Given the description of an element on the screen output the (x, y) to click on. 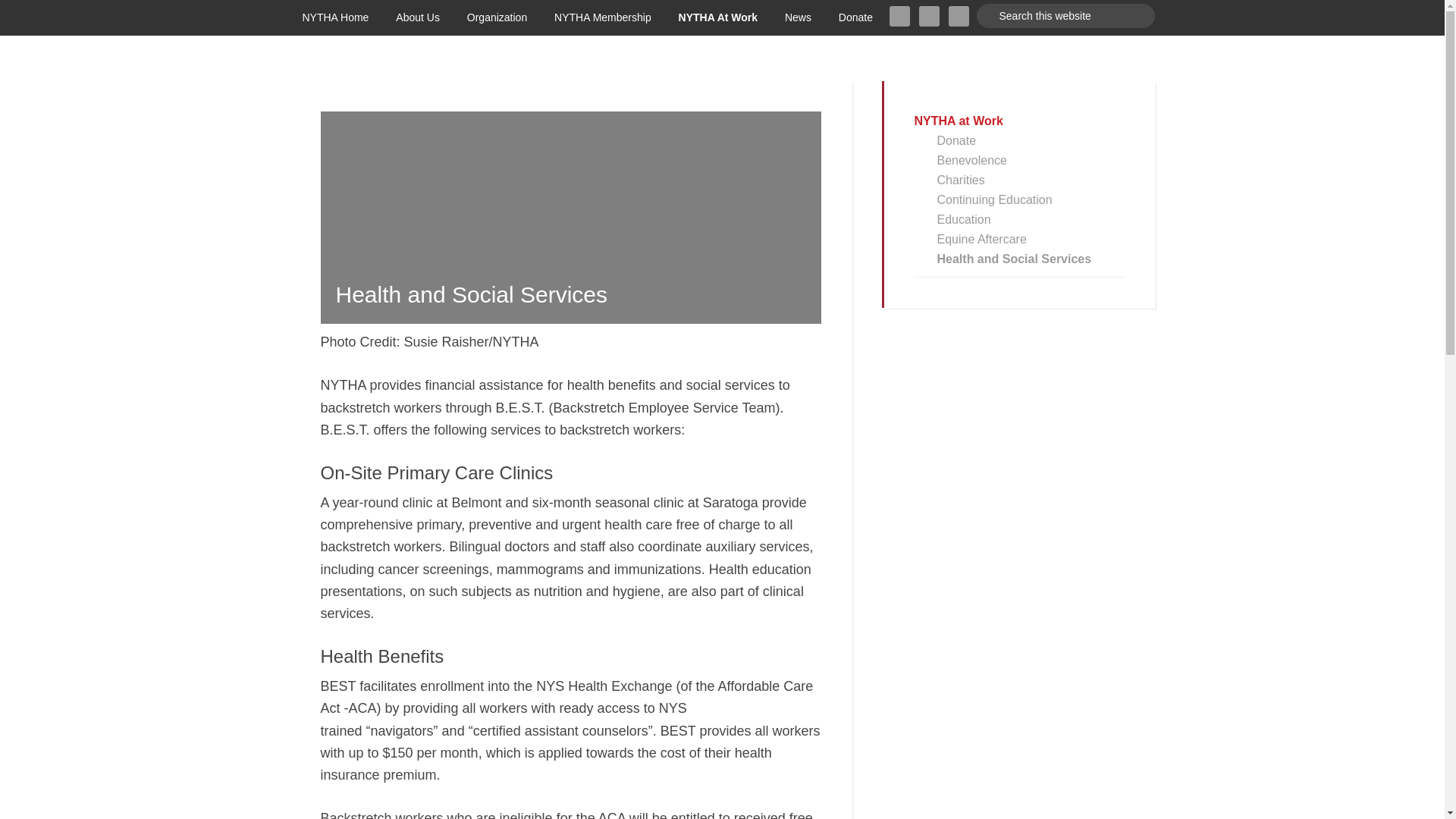
NYTHA Membership (602, 17)
NYTHA Home (334, 17)
About Us (417, 17)
Organization (496, 17)
